Given the description of an element on the screen output the (x, y) to click on. 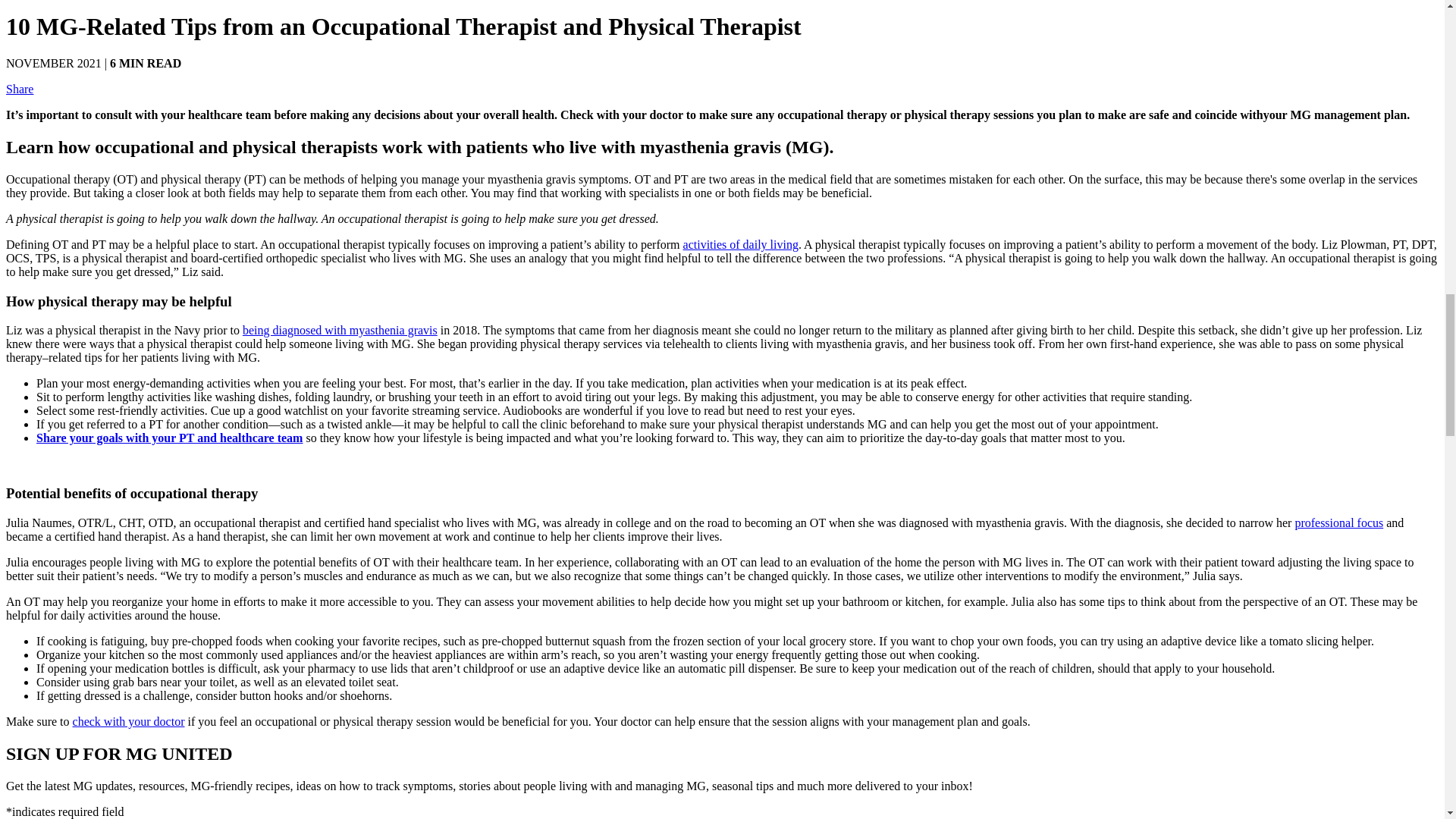
Talking to your healthcare team about MG (169, 437)
Share your goals with your PT and healthcare team (169, 437)
activities of daily living (739, 244)
Share (19, 88)
being diagnosed with myasthenia gravis (340, 329)
professional focus (1338, 522)
Tips for building and effective partnership with you doctor (128, 721)
Managing workplace expectations (1338, 522)
